Given the description of an element on the screen output the (x, y) to click on. 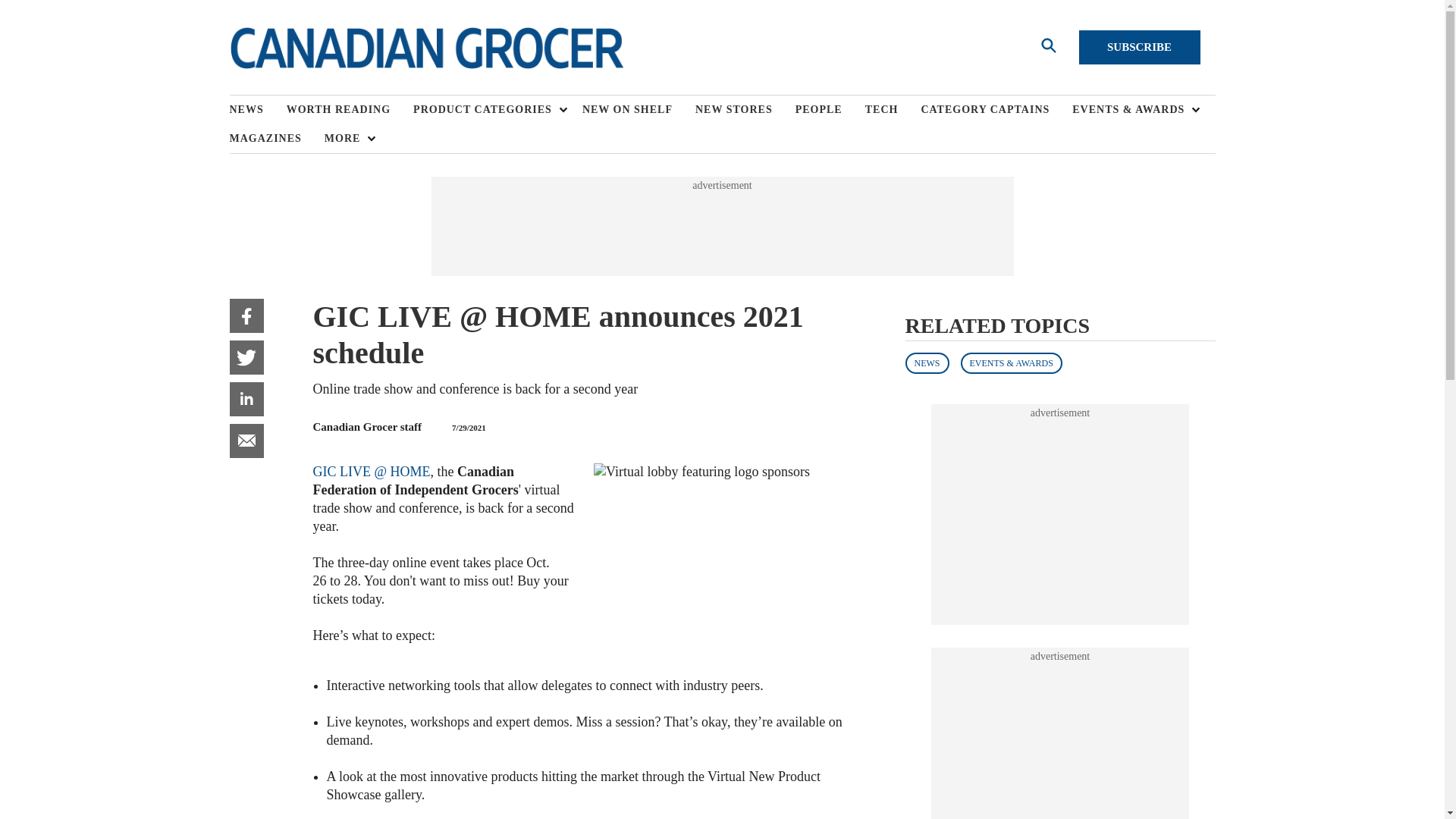
facebook (245, 315)
facebook (245, 315)
SUBSCRIBE (1138, 47)
email (245, 440)
MAGAZINES (275, 138)
NEW ON SHELF (638, 109)
linkedIn (245, 399)
TECH (892, 109)
WORTH READING (349, 109)
3rd party ad content (1059, 514)
